Given the description of an element on the screen output the (x, y) to click on. 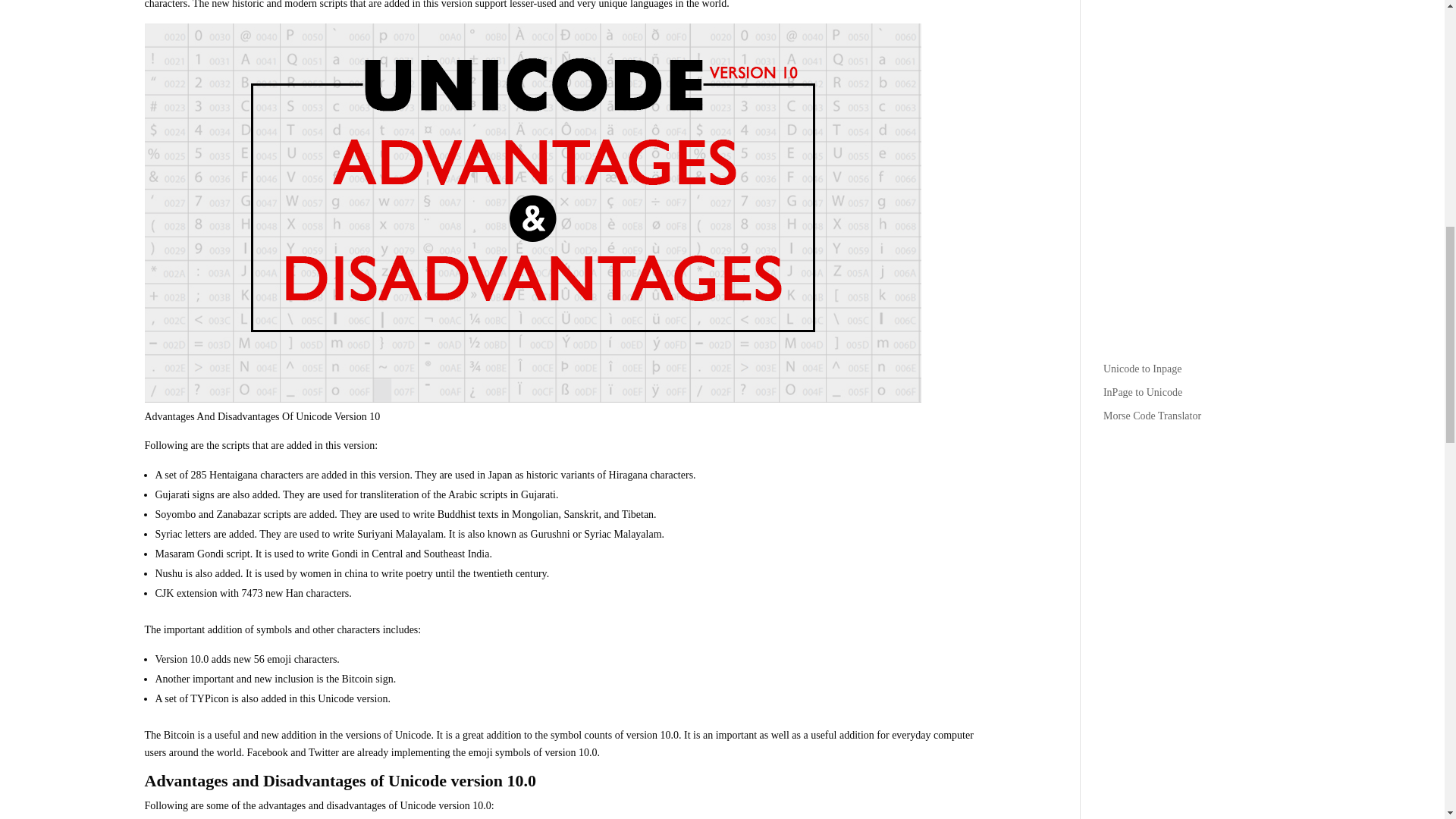
Unicode to Inpage (1141, 368)
InPage to Unicode (1142, 392)
Morse Code Translator (1152, 415)
